Given the description of an element on the screen output the (x, y) to click on. 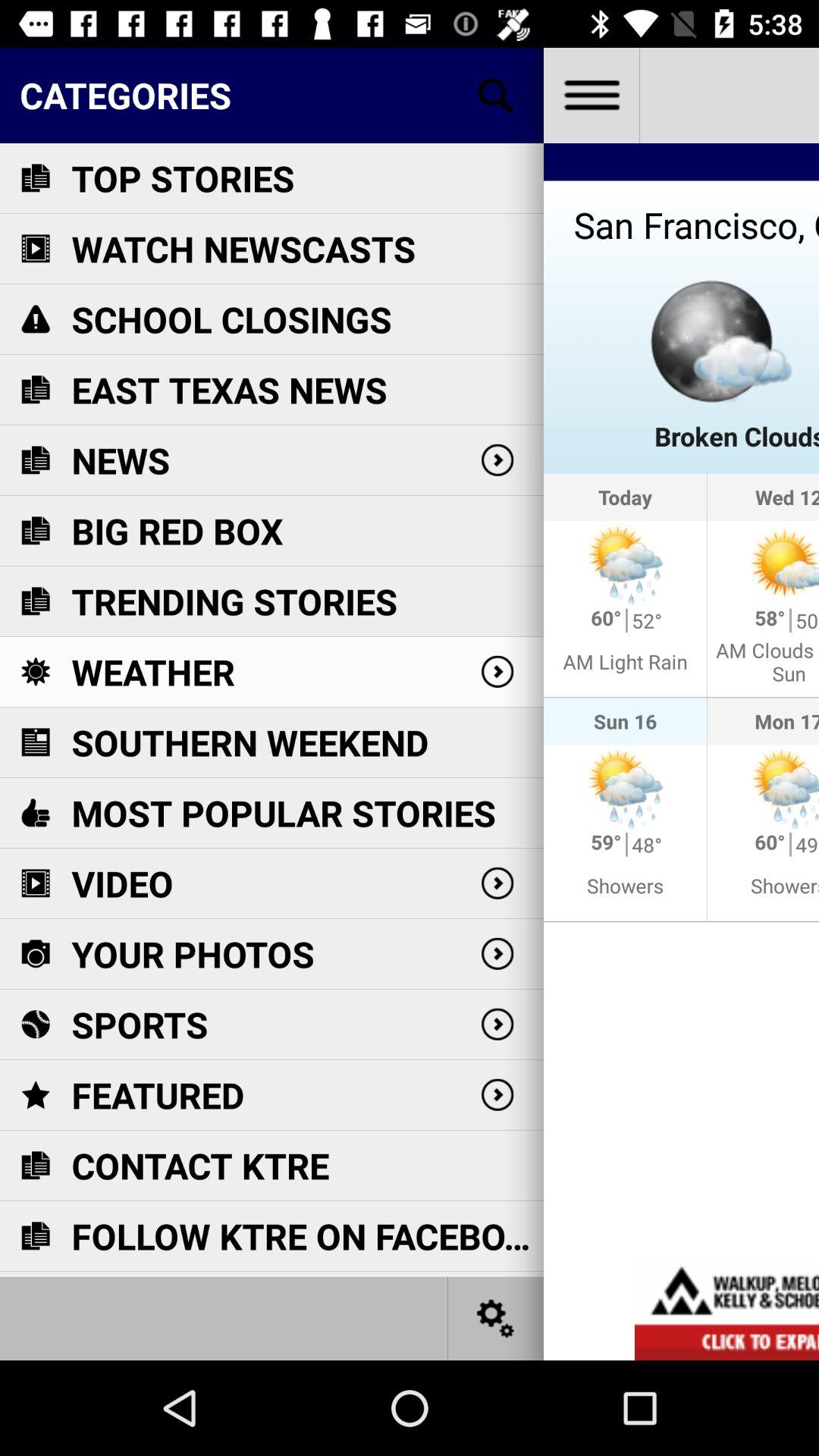
deselect menu (591, 95)
